Given the description of an element on the screen output the (x, y) to click on. 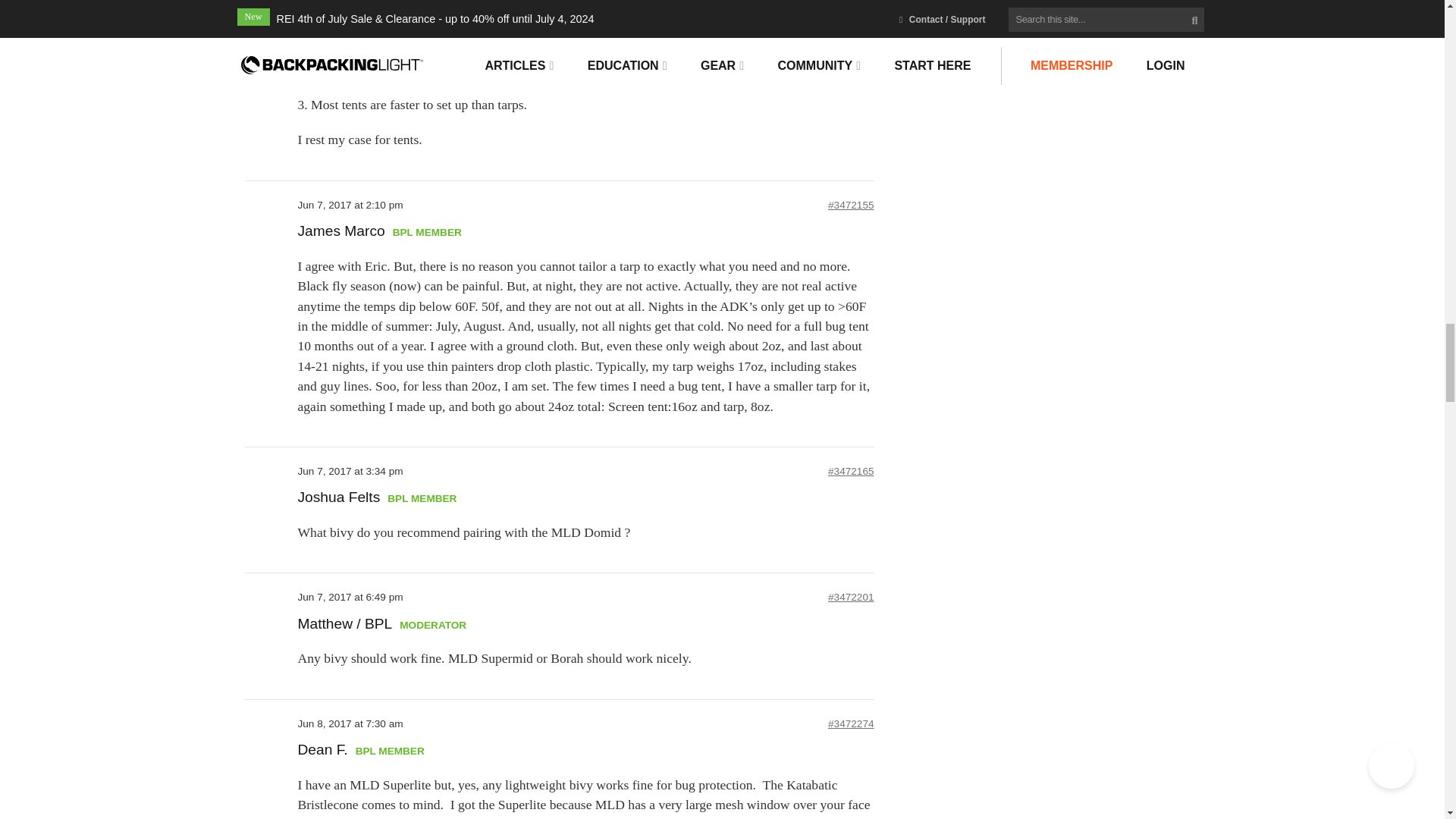
View Dean F.'s profile (322, 749)
View James Marco's profile (340, 231)
View Joshua Felts's profile (338, 497)
